Given the description of an element on the screen output the (x, y) to click on. 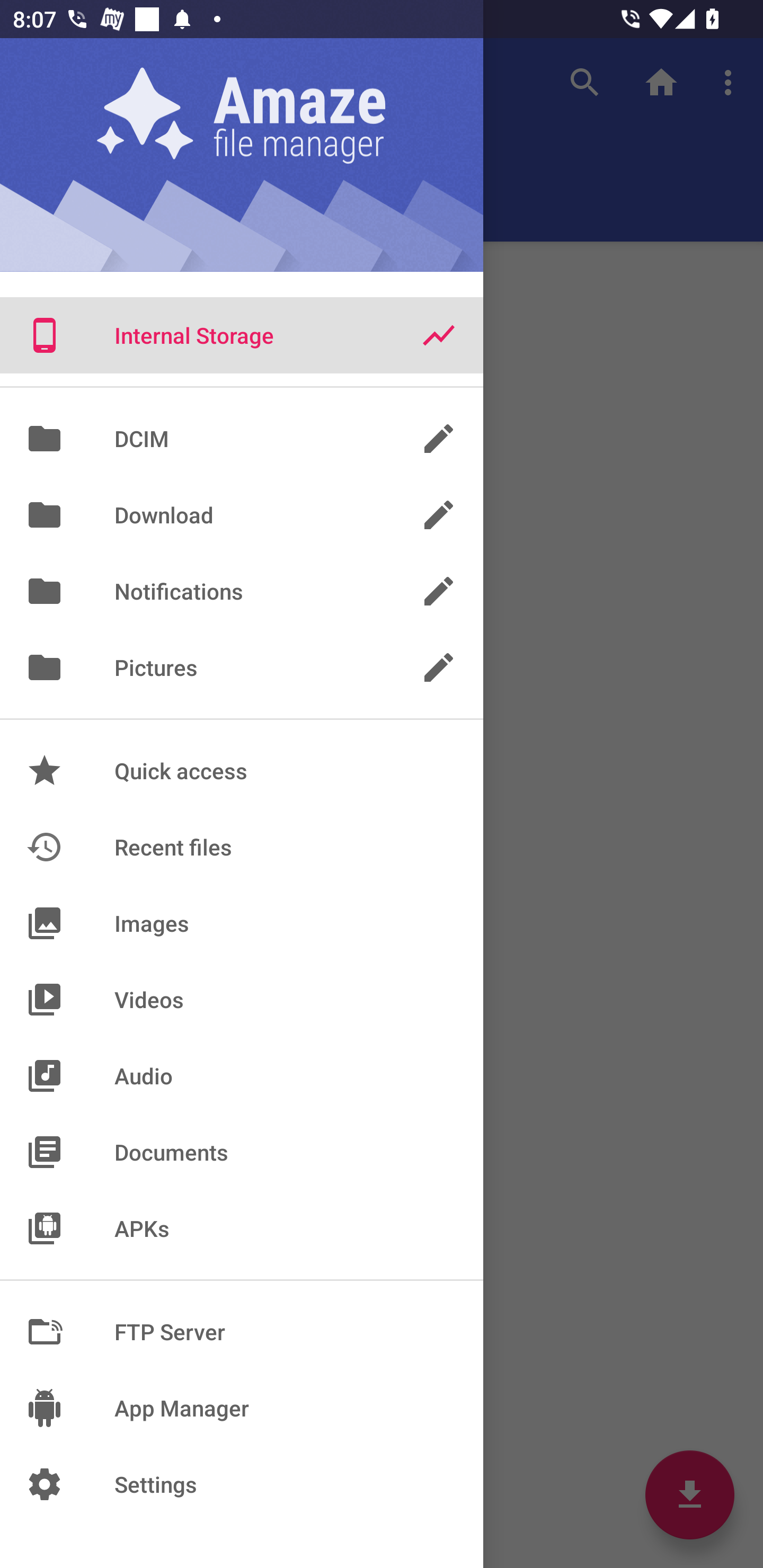
Internal Storage (241, 335)
DCIM (241, 437)
Download (241, 514)
Notifications (241, 590)
Pictures (241, 666)
Quick access (241, 770)
Recent files (241, 847)
Images (241, 923)
Videos (241, 999)
Audio (241, 1075)
Documents (241, 1151)
APKs (241, 1228)
FTP Server (241, 1331)
App Manager (241, 1407)
Settings (241, 1483)
